Given the description of an element on the screen output the (x, y) to click on. 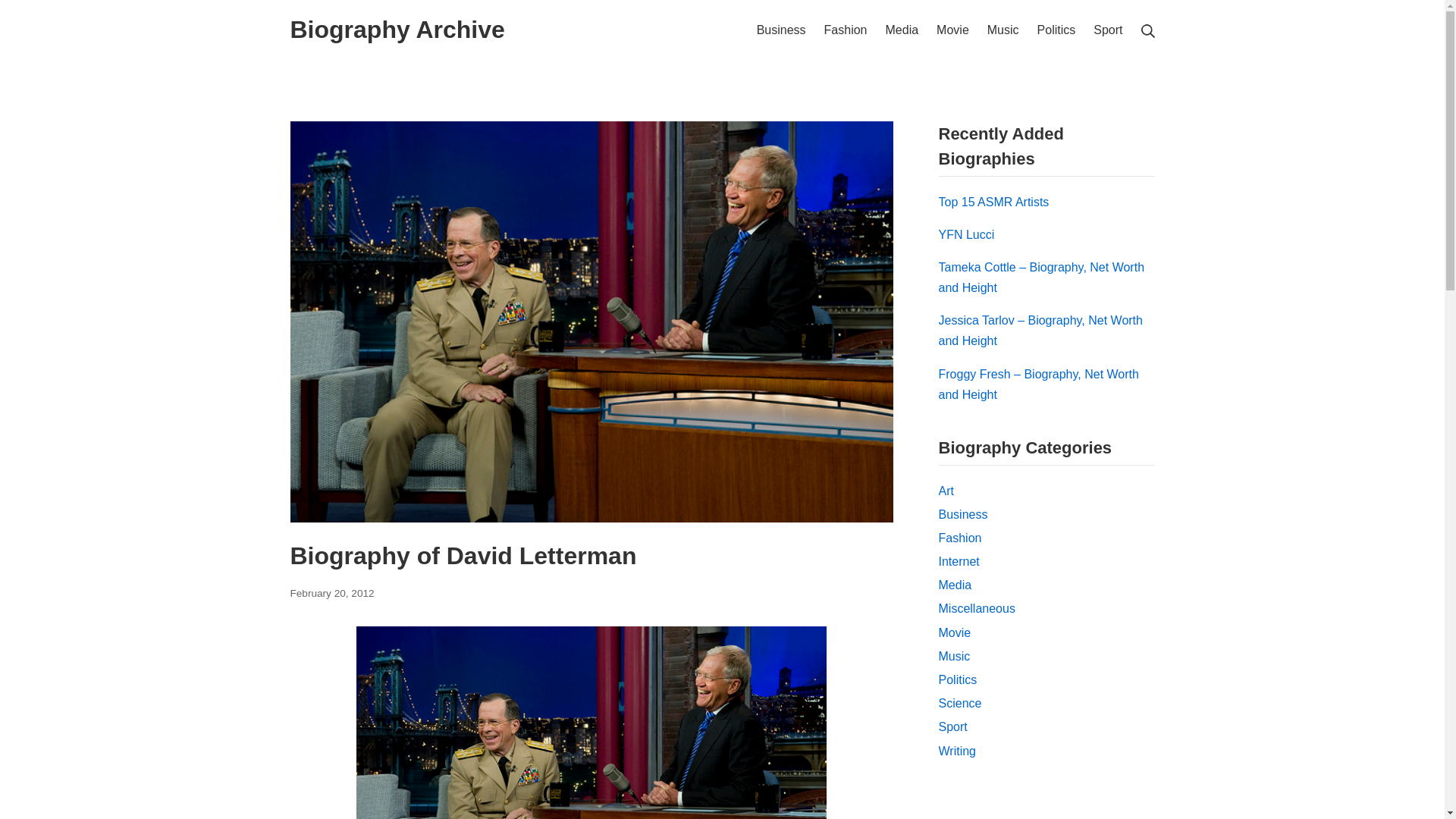
YFN Lucci (331, 593)
Politics (966, 234)
Art (957, 679)
Media (946, 490)
Miscellaneous (901, 29)
Movie (976, 608)
Search (952, 29)
Biography Archive (35, 15)
Music (396, 29)
Writing (1003, 29)
Movie (957, 750)
Fashion (955, 632)
Business (845, 29)
Science (781, 29)
